Given the description of an element on the screen output the (x, y) to click on. 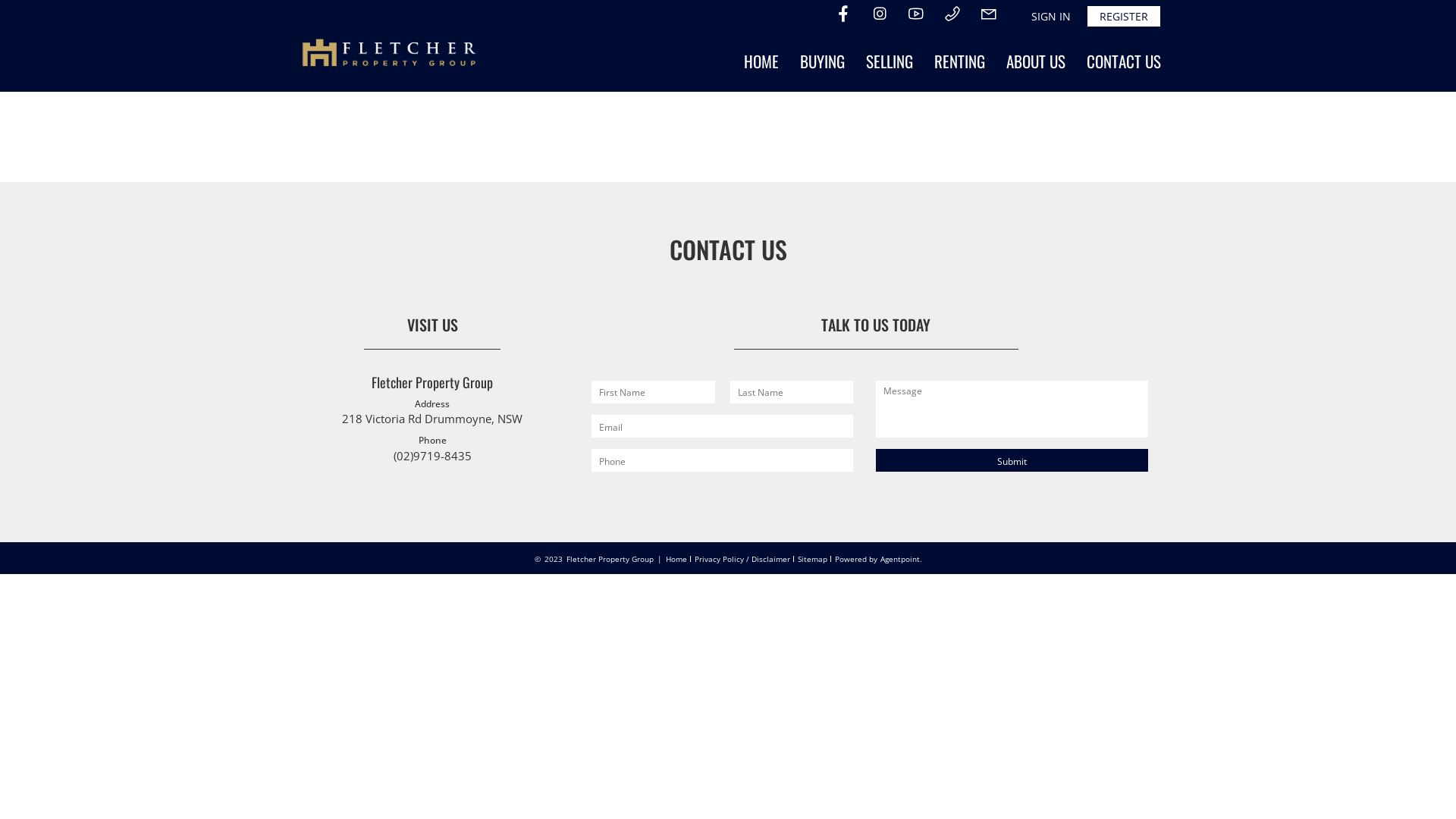
SELLING Element type: text (889, 61)
SIGN IN Element type: text (1050, 16)
Privacy Policy / Disclaimer Element type: text (742, 558)
CONTACT US Element type: text (1123, 61)
(02)9719-8435 Element type: text (431, 455)
REGISTER Element type: text (1123, 16)
Home Element type: text (676, 558)
RENTING Element type: text (959, 61)
Submit Element type: text (1011, 459)
Sitemap Element type: text (812, 558)
BUYING Element type: text (822, 61)
Agentpoint Element type: text (899, 558)
HOME Element type: text (761, 61)
ABOUT US Element type: text (1035, 61)
